Given the description of an element on the screen output the (x, y) to click on. 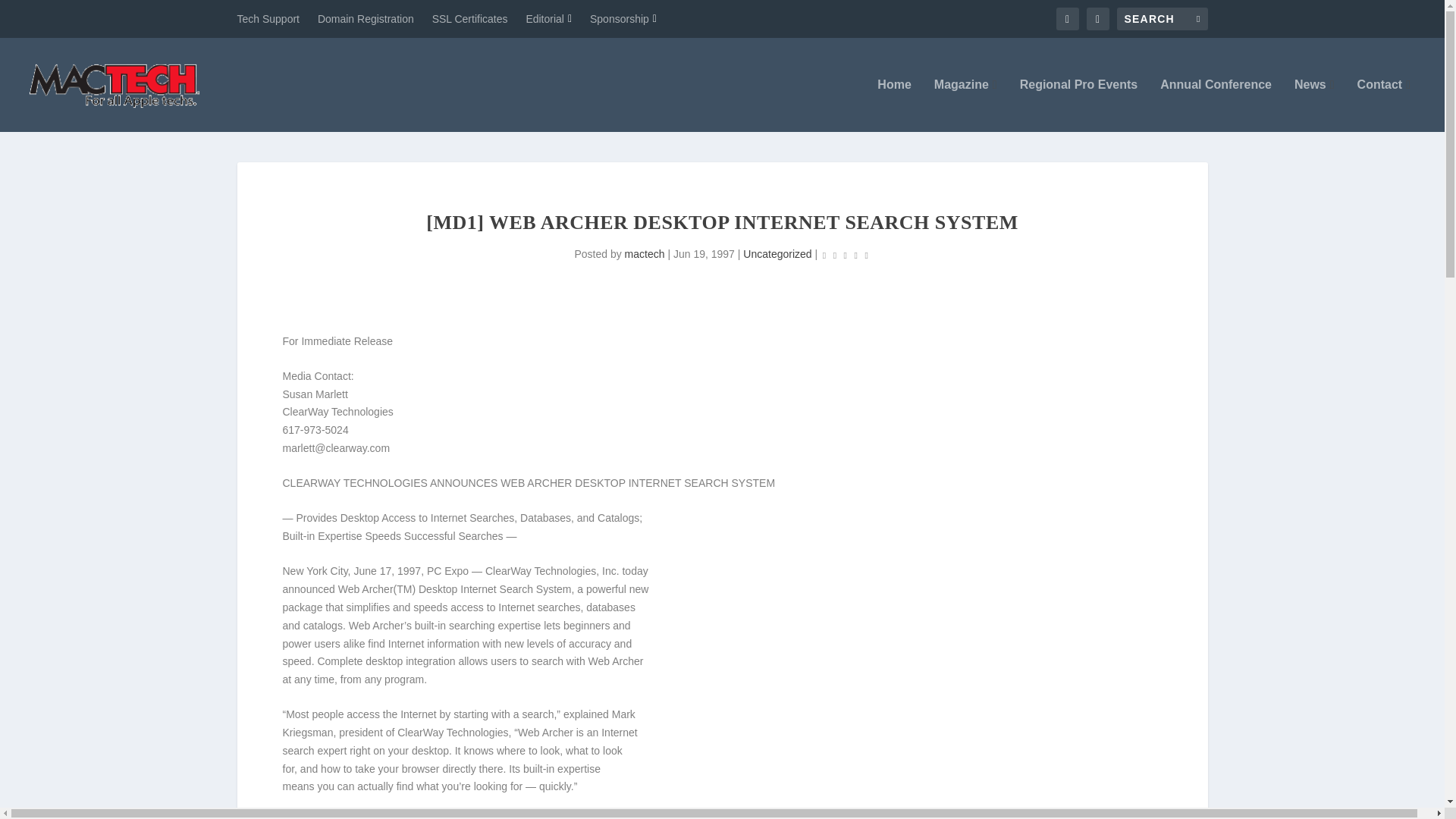
Annual Conference (1215, 104)
Posts by mactech (644, 254)
SSL Certificates (470, 18)
Regional Pro Events (1079, 104)
Domain Registration (365, 18)
Search for: (1161, 18)
Magazine (965, 104)
Sponsorship (622, 18)
Editorial (548, 18)
Rating: 0.00 (845, 254)
Contact (1383, 104)
Tech Support (267, 18)
